Given the description of an element on the screen output the (x, y) to click on. 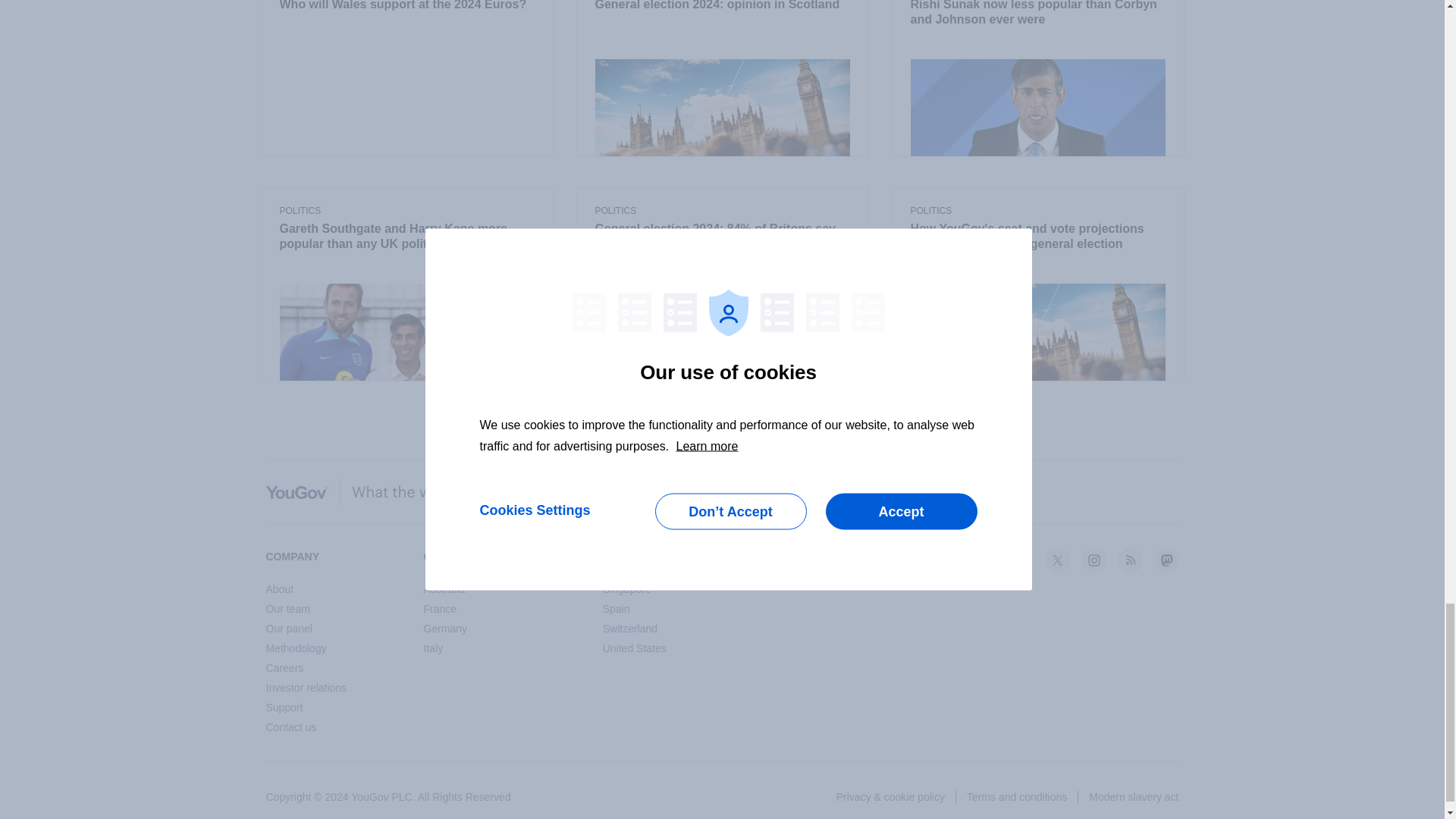
General election 2024: opinion in Scotland (721, 6)
Who will Wales support at the 2024 Euros? (406, 6)
